Given the description of an element on the screen output the (x, y) to click on. 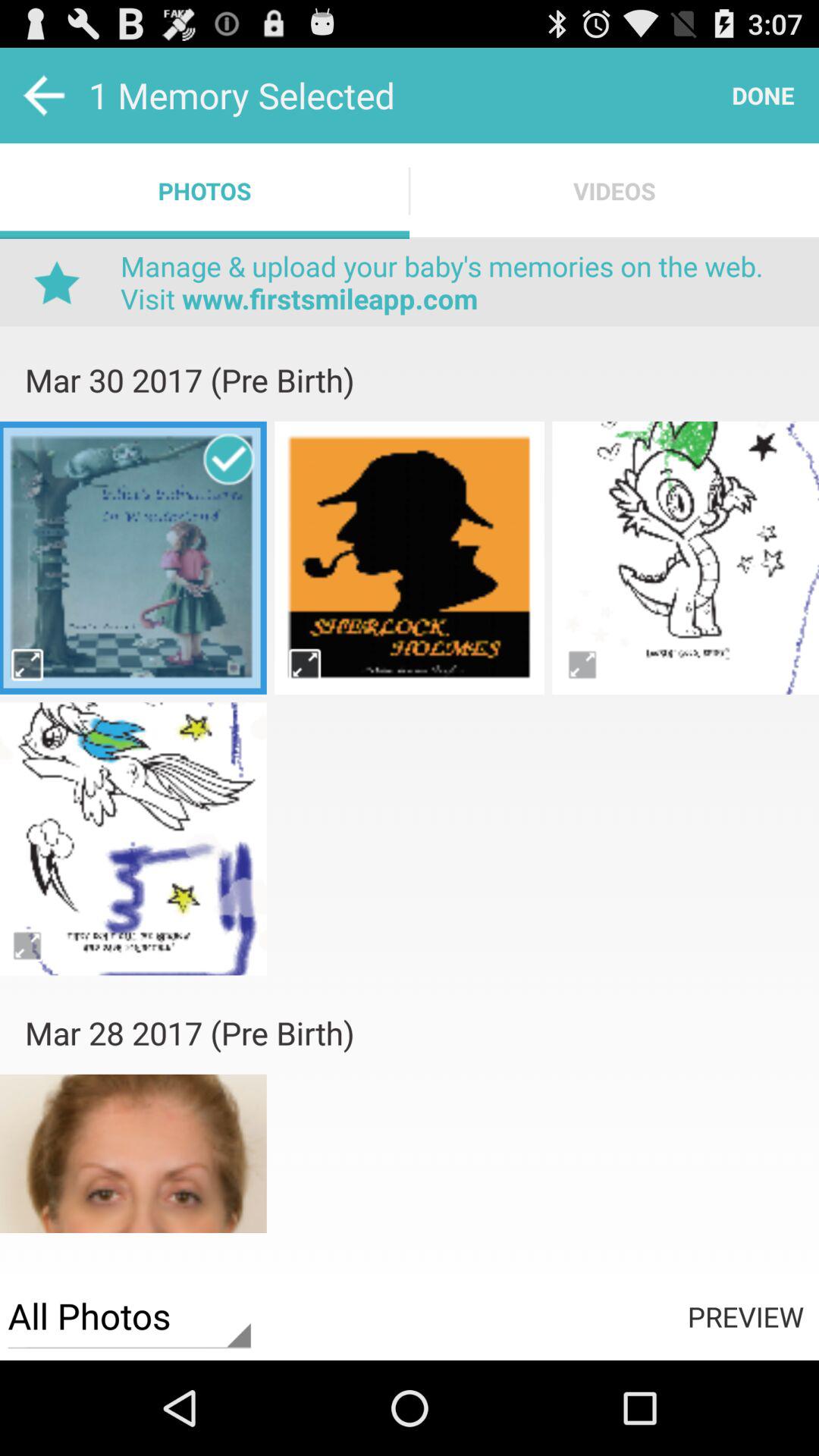
photos option (409, 719)
